Given the description of an element on the screen output the (x, y) to click on. 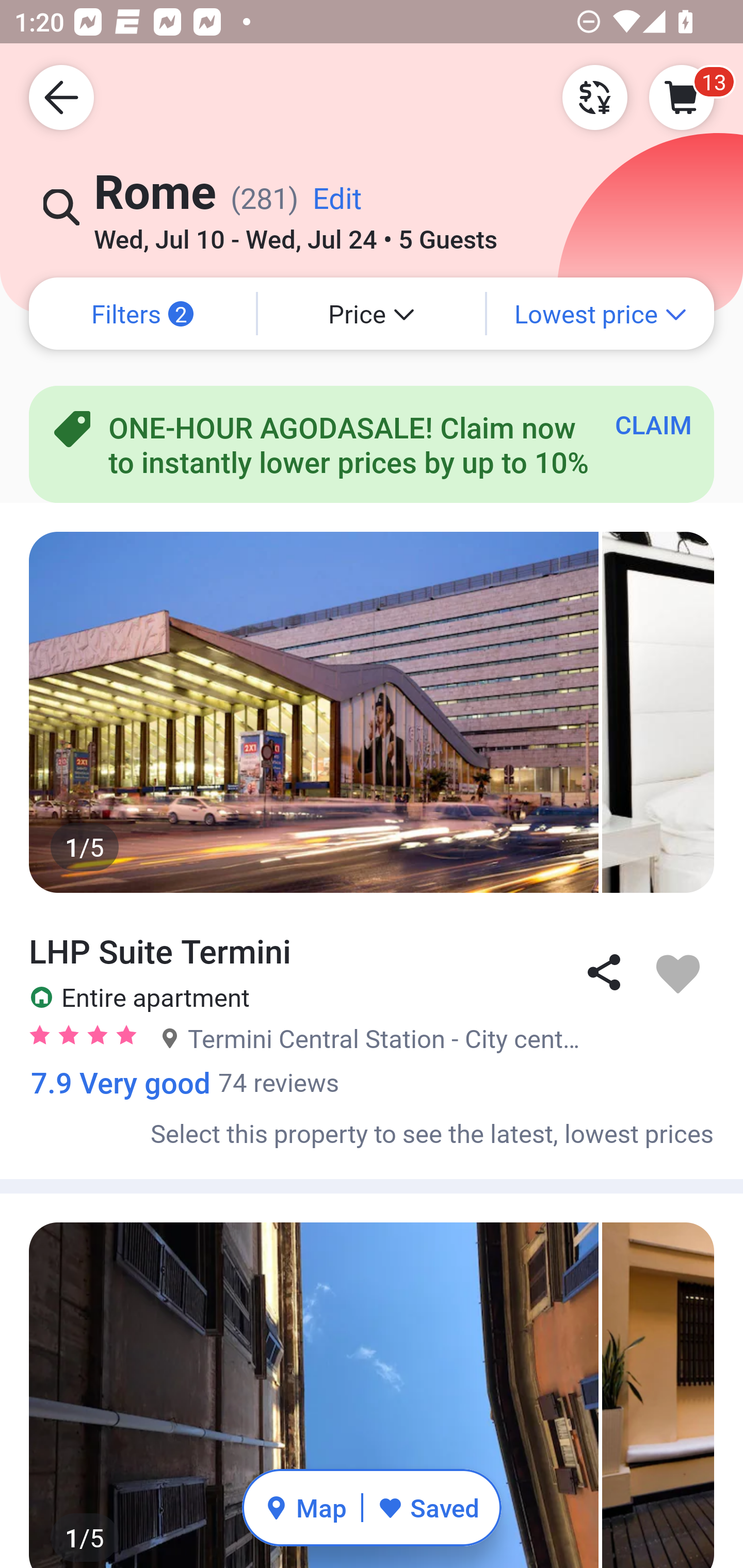
Wed, Jul 10 - Wed, Jul 24 • 5 Guests (295, 232)
Filters 2 (141, 313)
Price (371, 313)
Lowest price (600, 313)
CLAIM (653, 424)
1/5 (371, 711)
1/5 (371, 1395)
Map (305, 1507)
Saved (428, 1507)
